Given the description of an element on the screen output the (x, y) to click on. 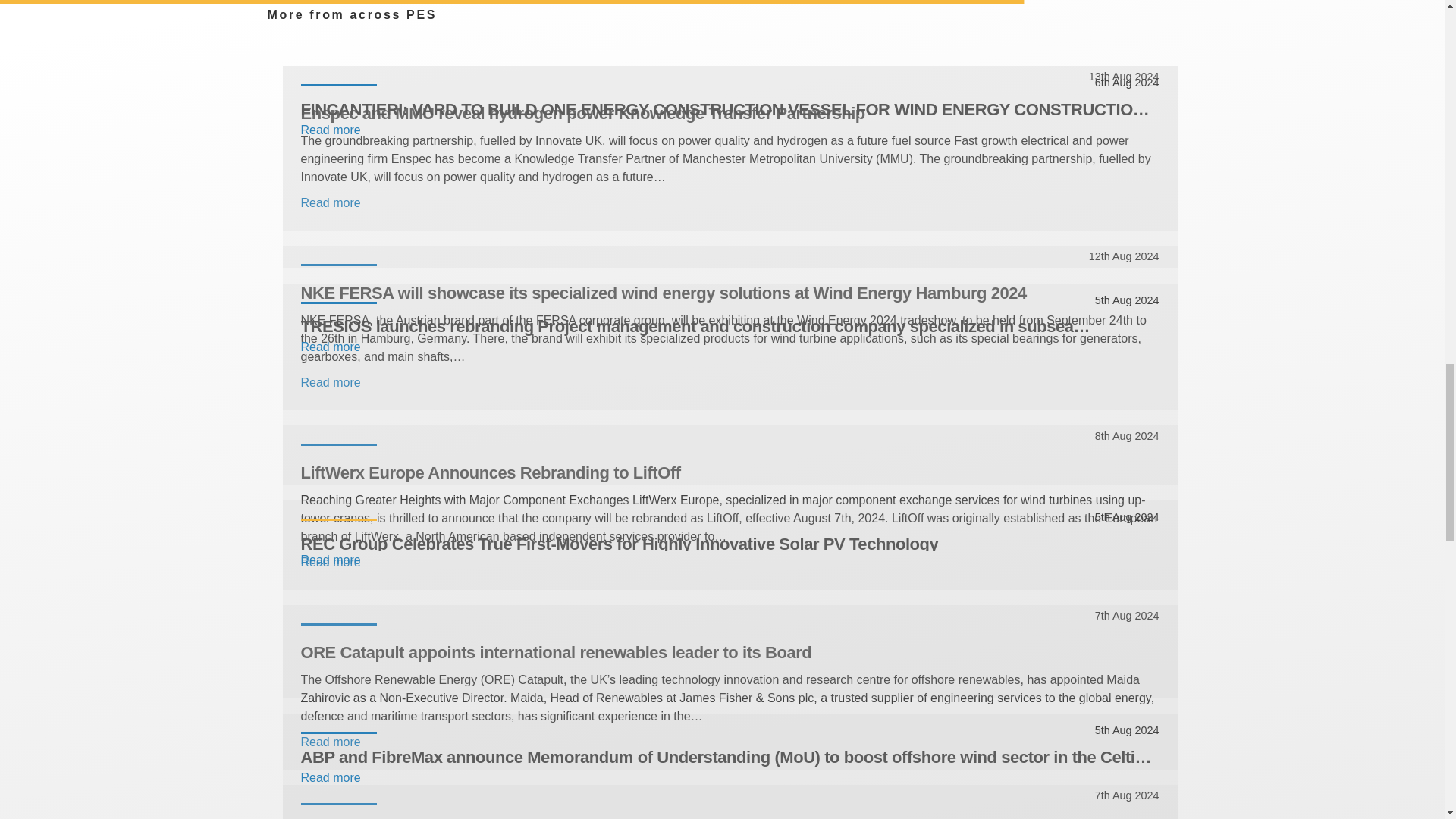
LiftWerx Europe Announces Rebranding to LiftOff (728, 472)
